Given the description of an element on the screen output the (x, y) to click on. 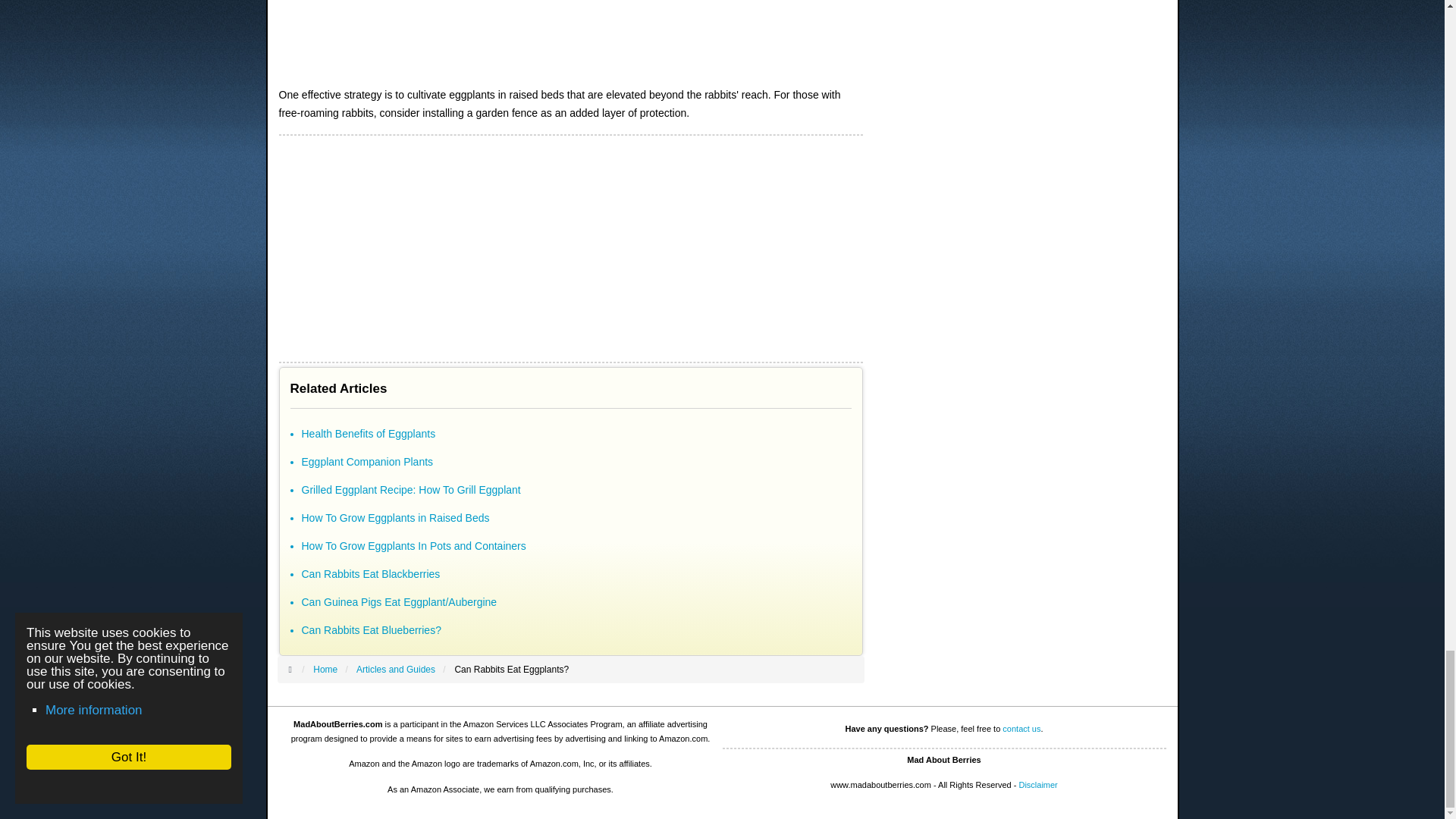
Eggplant Companion Plants (367, 461)
Health Benefits of Eggplants (368, 433)
MadAboutBerries.com Disclaimer (1037, 784)
Can Rabbits Eat Blackberries (371, 573)
How To Grow Eggplants In Pots and Containers (413, 545)
Home (325, 669)
Can Rabbits Eat Blueberries? (371, 630)
Mad About Berries - Contact Us (1022, 728)
How To Grow Eggplants in Raised Beds (395, 517)
Grilled Eggplant Recipe: How To Grill Eggplant (411, 490)
Articles and Guides (395, 669)
